Given the description of an element on the screen output the (x, y) to click on. 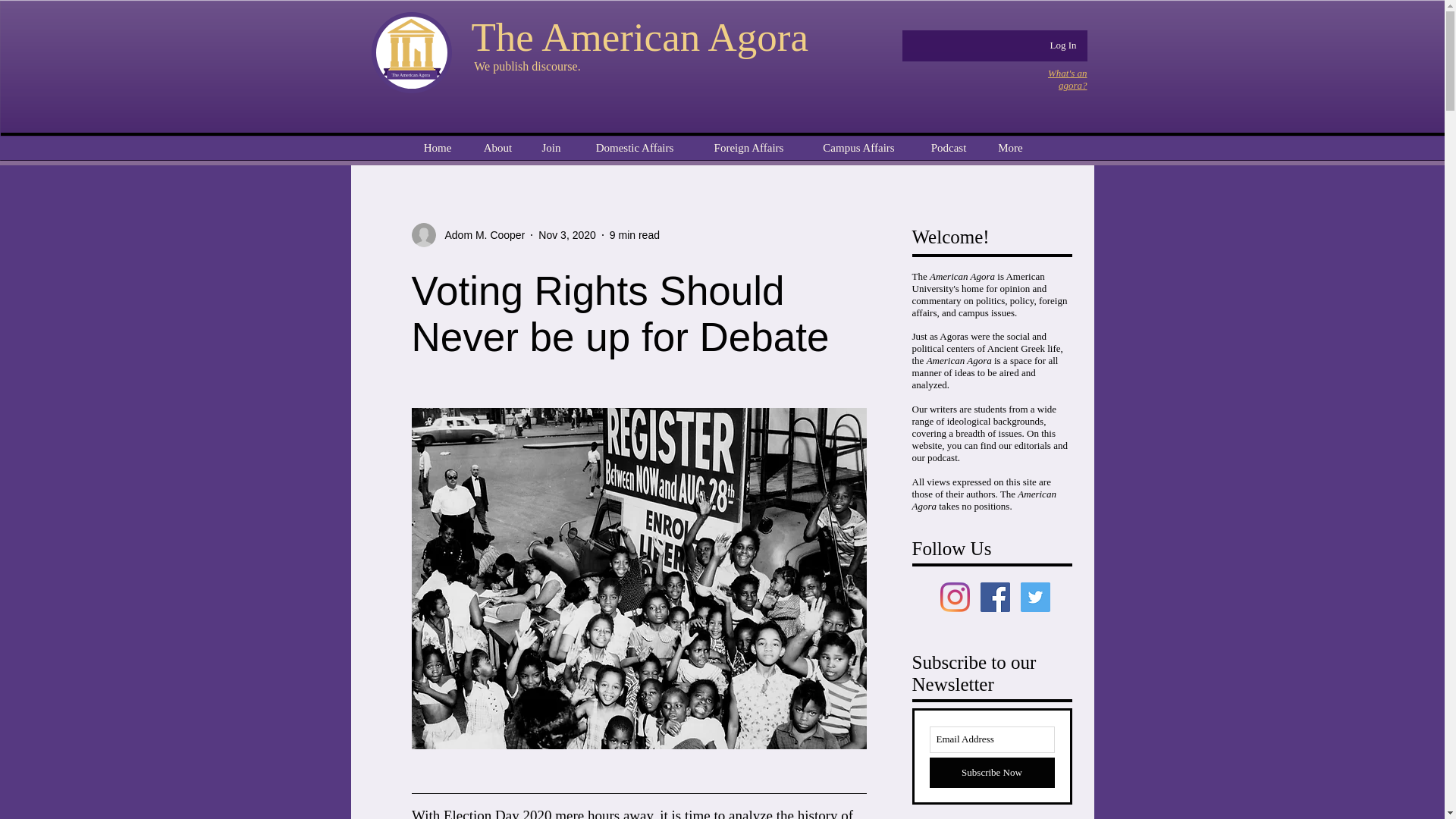
Domestic Affairs (634, 147)
Nov 3, 2020 (566, 234)
Adom M. Cooper (467, 234)
Campus Affairs (858, 147)
Home (436, 147)
Join (551, 147)
About (497, 147)
What's an agora? (1067, 78)
Podcast (948, 147)
Log In (1062, 45)
